Given the description of an element on the screen output the (x, y) to click on. 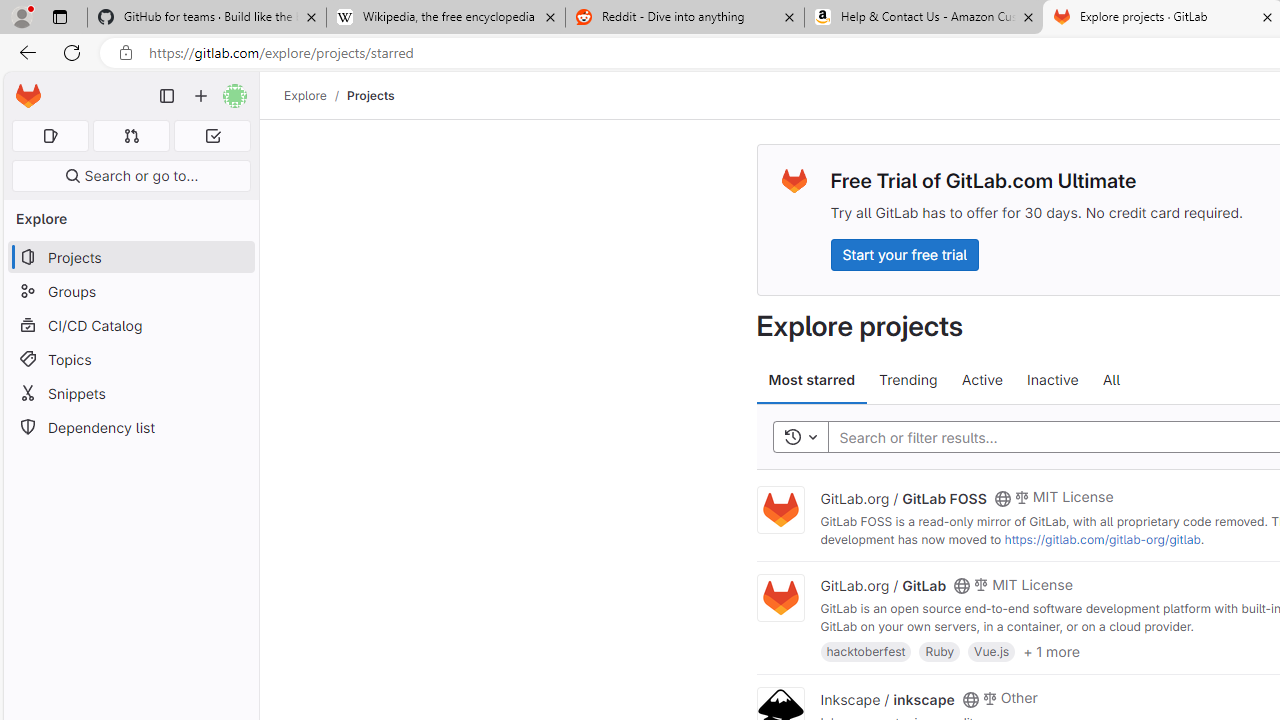
To-Do list 0 (212, 136)
Primary navigation sidebar (167, 96)
Start your free trial (904, 254)
Snippets (130, 393)
Snippets (130, 393)
GitLab.org / GitLab (883, 585)
Topics (130, 358)
Explore/ (316, 95)
CI/CD Catalog (130, 325)
Active (982, 379)
Trending (907, 379)
Wikipedia, the free encyclopedia (445, 17)
